Given the description of an element on the screen output the (x, y) to click on. 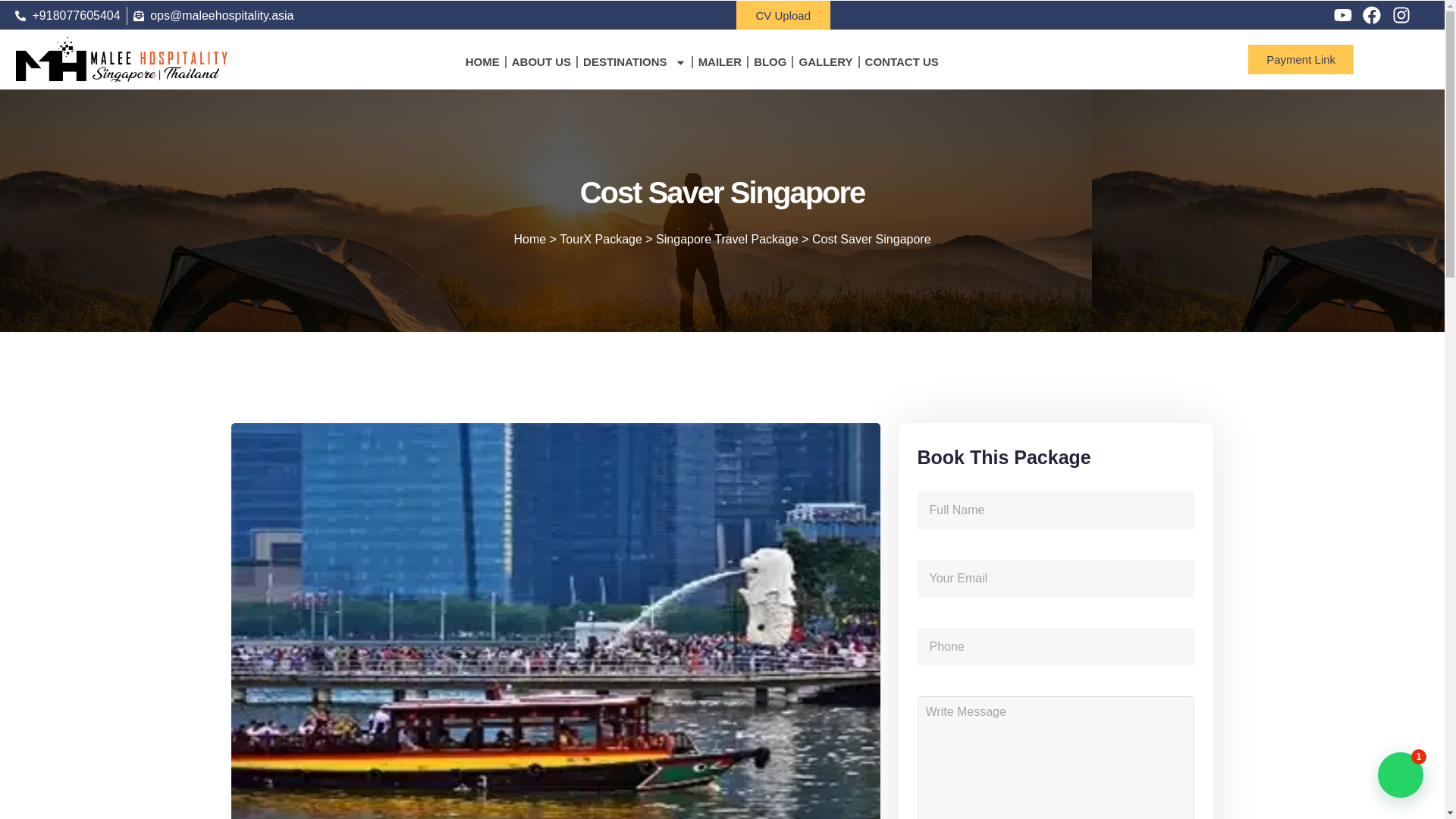
Go to the Singapore Travel Package Destination archives. (726, 237)
Go to TourX Package. (600, 237)
Go to Home. (529, 237)
CV Upload (782, 15)
